Given the description of an element on the screen output the (x, y) to click on. 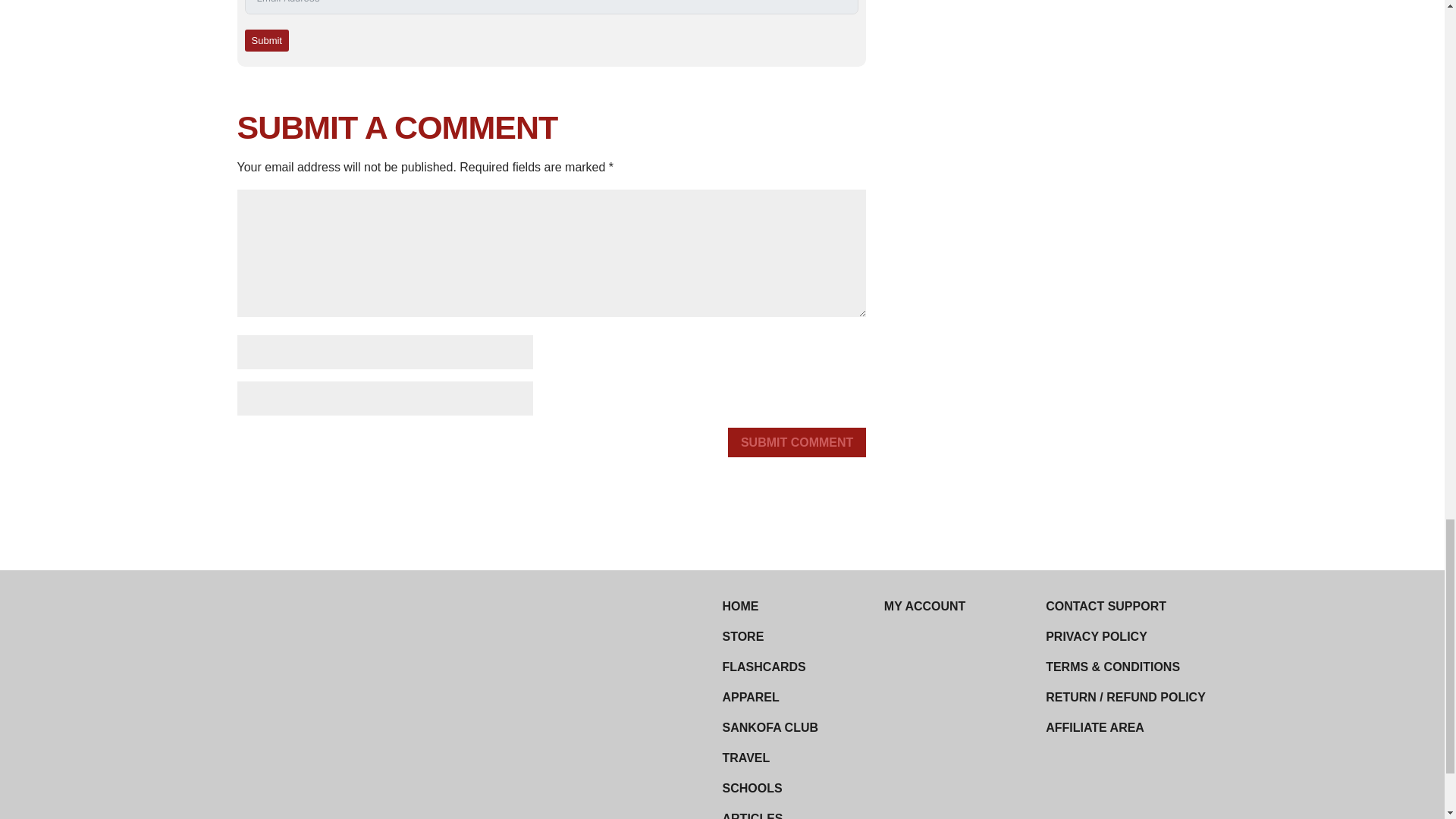
footer-img (370, 620)
ByBlackCertified (383, 751)
